Given the description of an element on the screen output the (x, y) to click on. 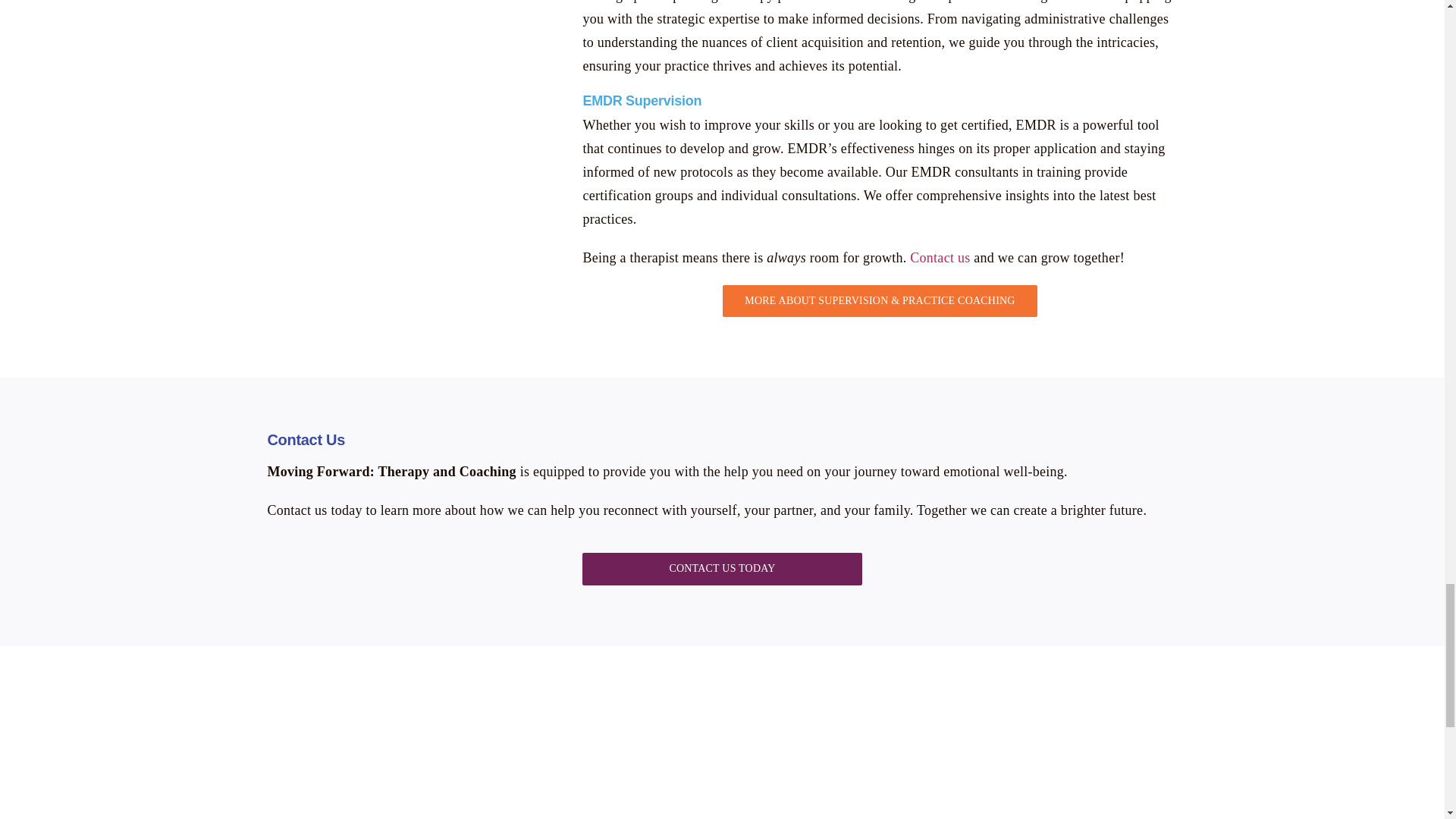
For Clinicians (406, 45)
Divorce Coaches Academy (825, 747)
CDC (583, 752)
EMDR Certified Therapist (340, 747)
ICF Member (1068, 752)
IMAGO Relationship (98, 747)
